Given the description of an element on the screen output the (x, y) to click on. 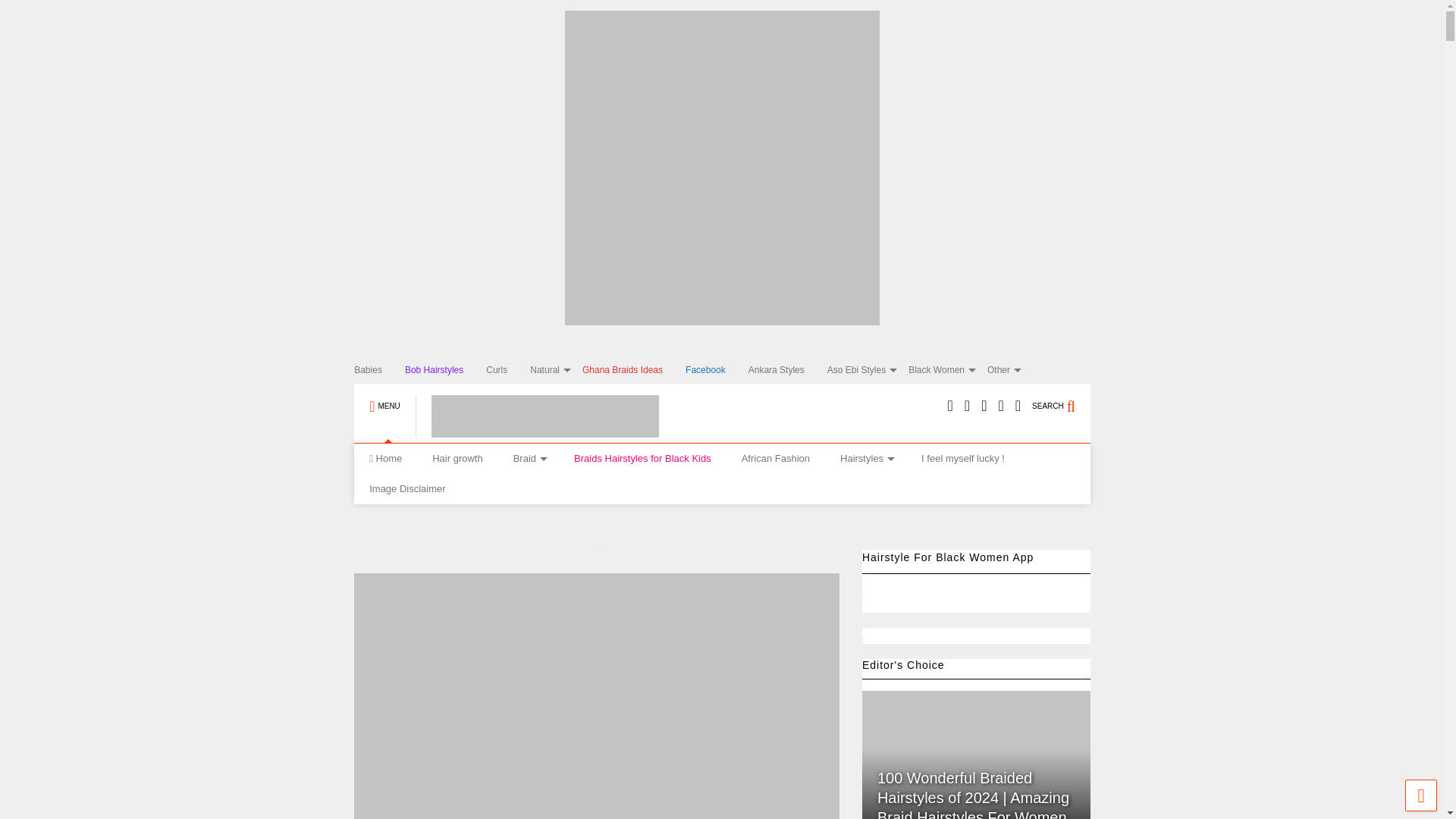
Black Women (947, 370)
facebook (1017, 405)
Facebook (716, 370)
Babies (378, 370)
twitter (966, 405)
google-plus (1000, 405)
Natural (555, 370)
Hairstyle For Women (536, 430)
instagram (984, 405)
Curls (507, 370)
Ankara Styles (787, 370)
Ghana Braids Ideas (633, 370)
40 Different Ways To Wear Braids For A Fuss-Free Summer (596, 696)
Bob Hairstyles (445, 370)
youtube (950, 405)
